Given the description of an element on the screen output the (x, y) to click on. 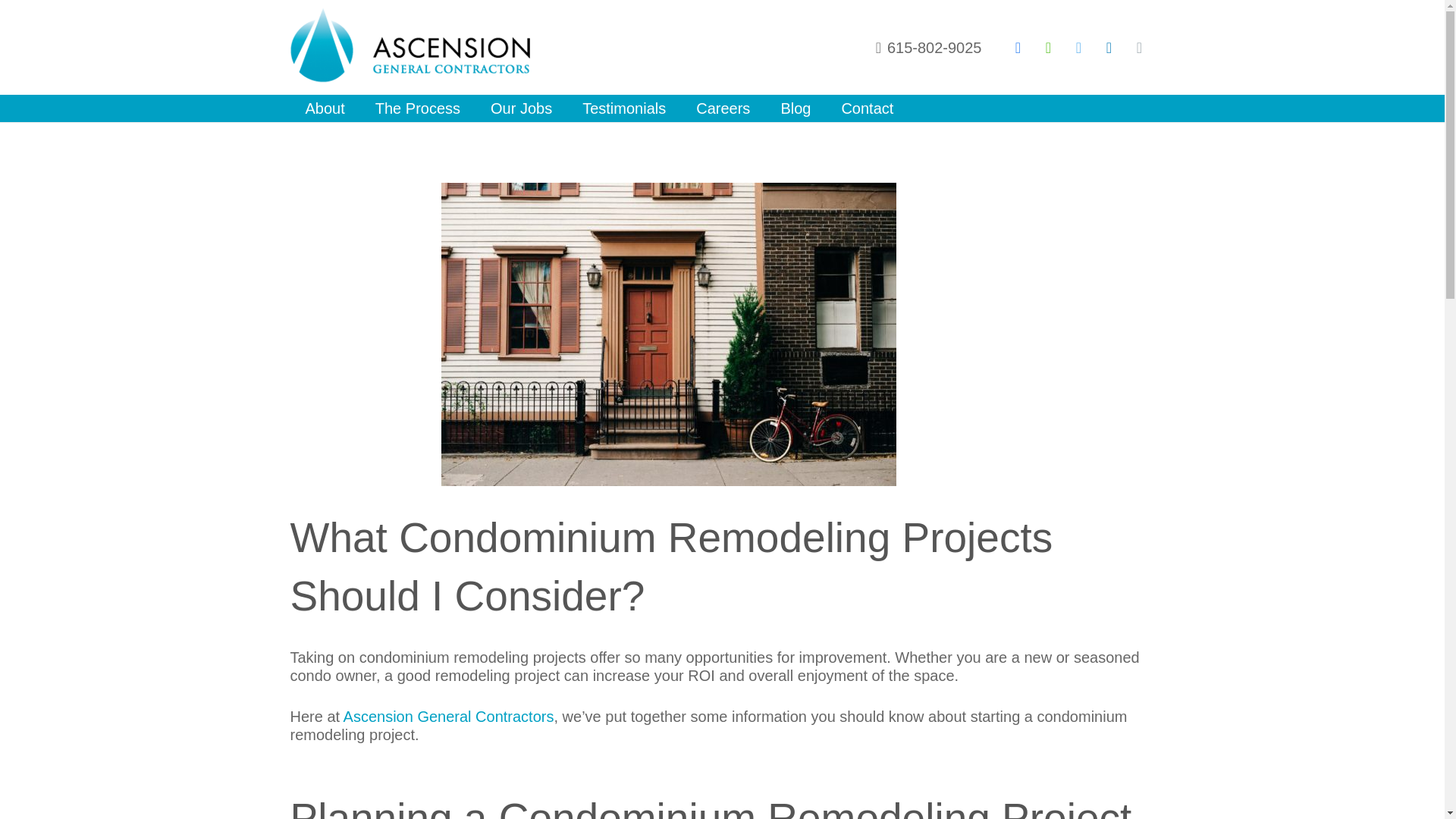
Contact (866, 108)
Blog (795, 108)
Twitter (1077, 46)
615-802-9025 (928, 47)
Facebook (1017, 46)
Testimonials (624, 108)
About (324, 108)
Careers (723, 108)
Houzz (1047, 46)
Ascension General Contractors (448, 716)
The Process (417, 108)
Our Jobs (521, 108)
LinkedIn (1108, 46)
Email (1139, 46)
